Given the description of an element on the screen output the (x, y) to click on. 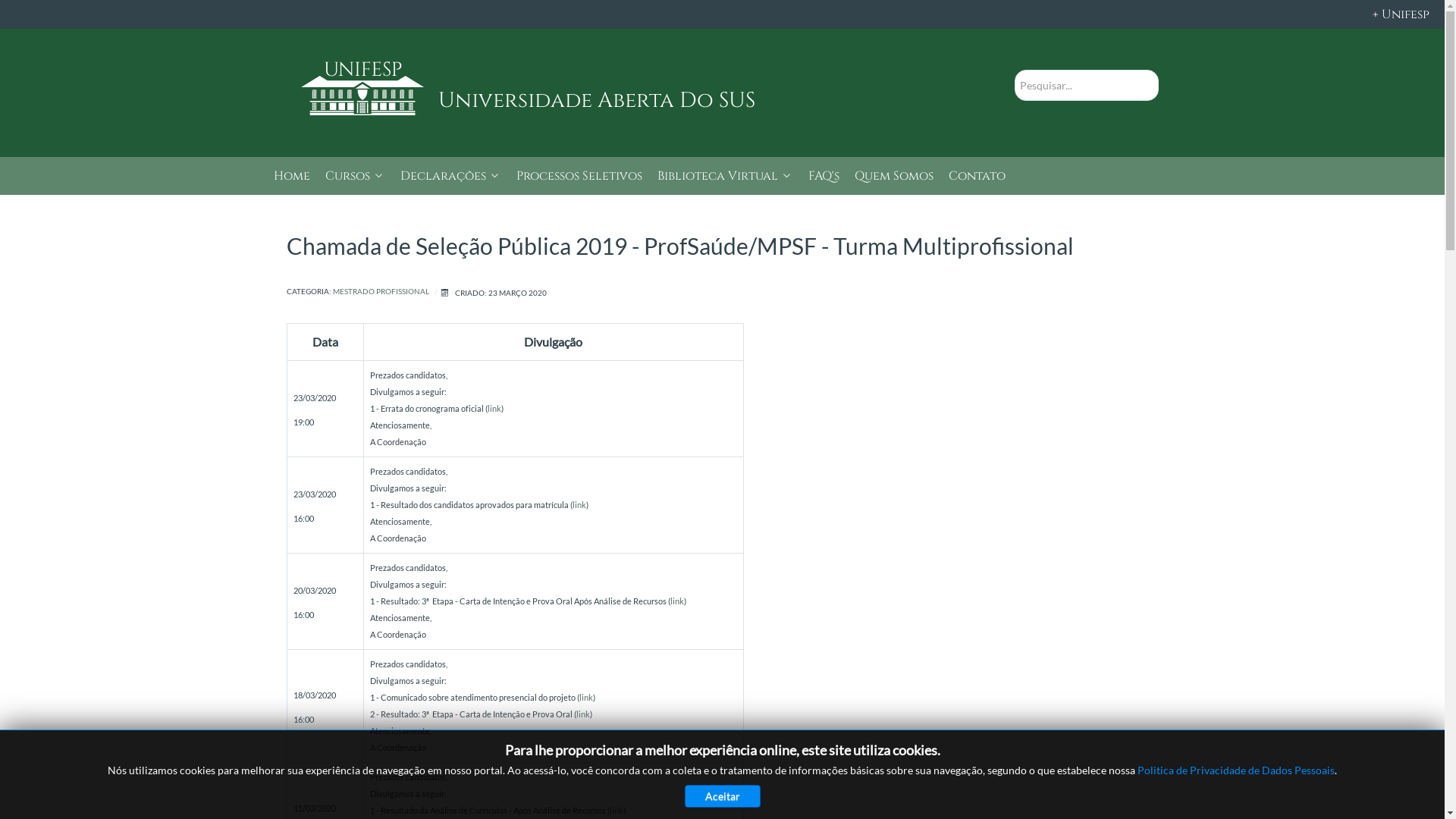
FAQ's Element type: text (823, 176)
link Element type: text (616, 810)
on Element type: text (4, 4)
Processos Seletivos Element type: text (578, 176)
Home Element type: text (291, 176)
link Element type: text (586, 697)
Quem Somos Element type: text (892, 176)
link Element type: text (677, 600)
+ Unifesp Element type: text (722, 14)
Universidade Aberta Do SUS Element type: text (707, 100)
link Element type: text (493, 408)
Politica de Privacidade de Dados Pessoais Element type: text (1235, 769)
Contato Element type: text (975, 176)
link Element type: text (582, 713)
link Element type: text (578, 504)
MESTRADO PROFISSIONAL Element type: text (380, 292)
